Given the description of an element on the screen output the (x, y) to click on. 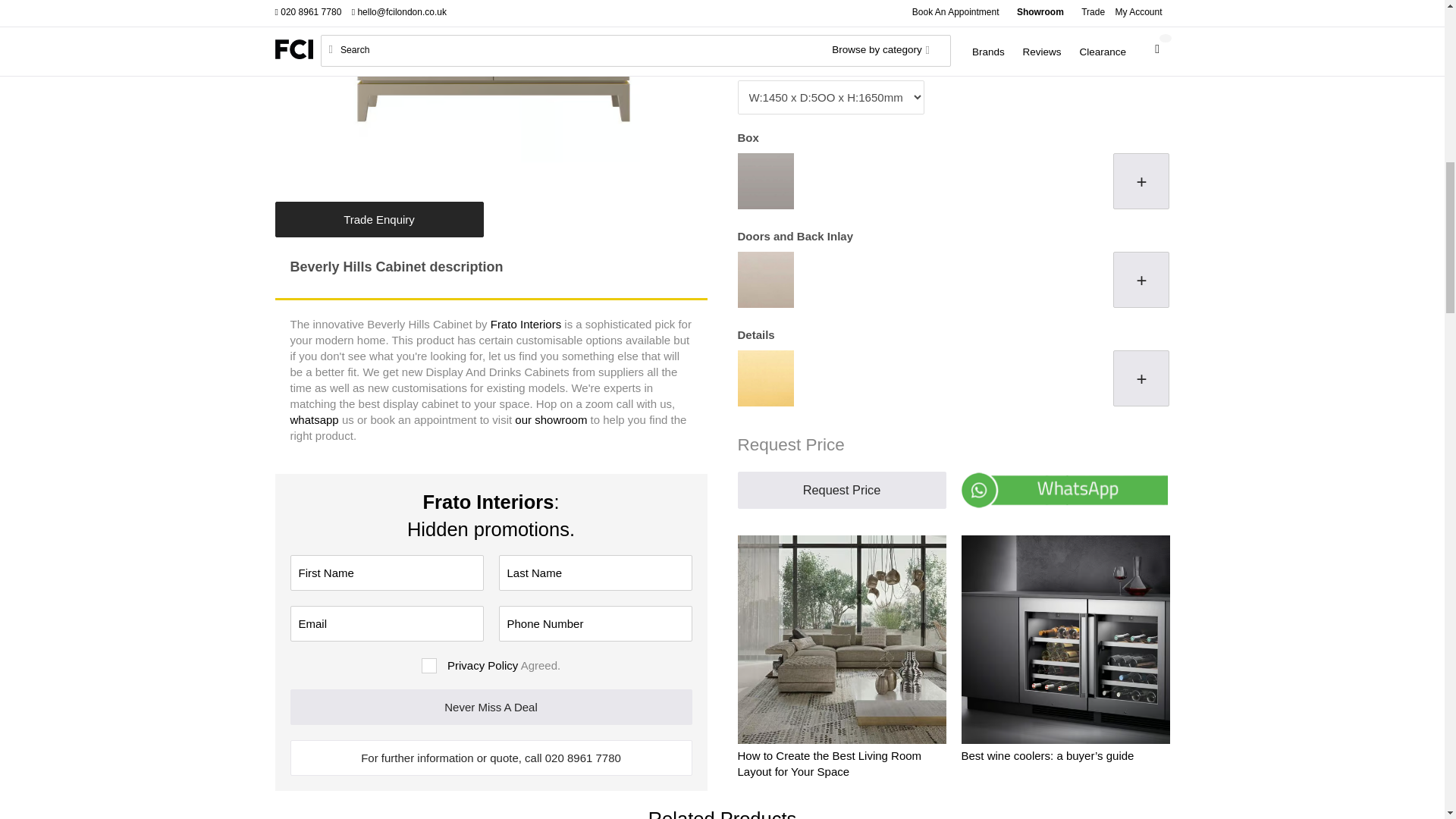
Beverly Hills Cabinet by Frato Interiors (494, 89)
2 to 255 characters (596, 572)
Never Miss A Deal (490, 706)
2 to 255 characters (386, 572)
